Given the description of an element on the screen output the (x, y) to click on. 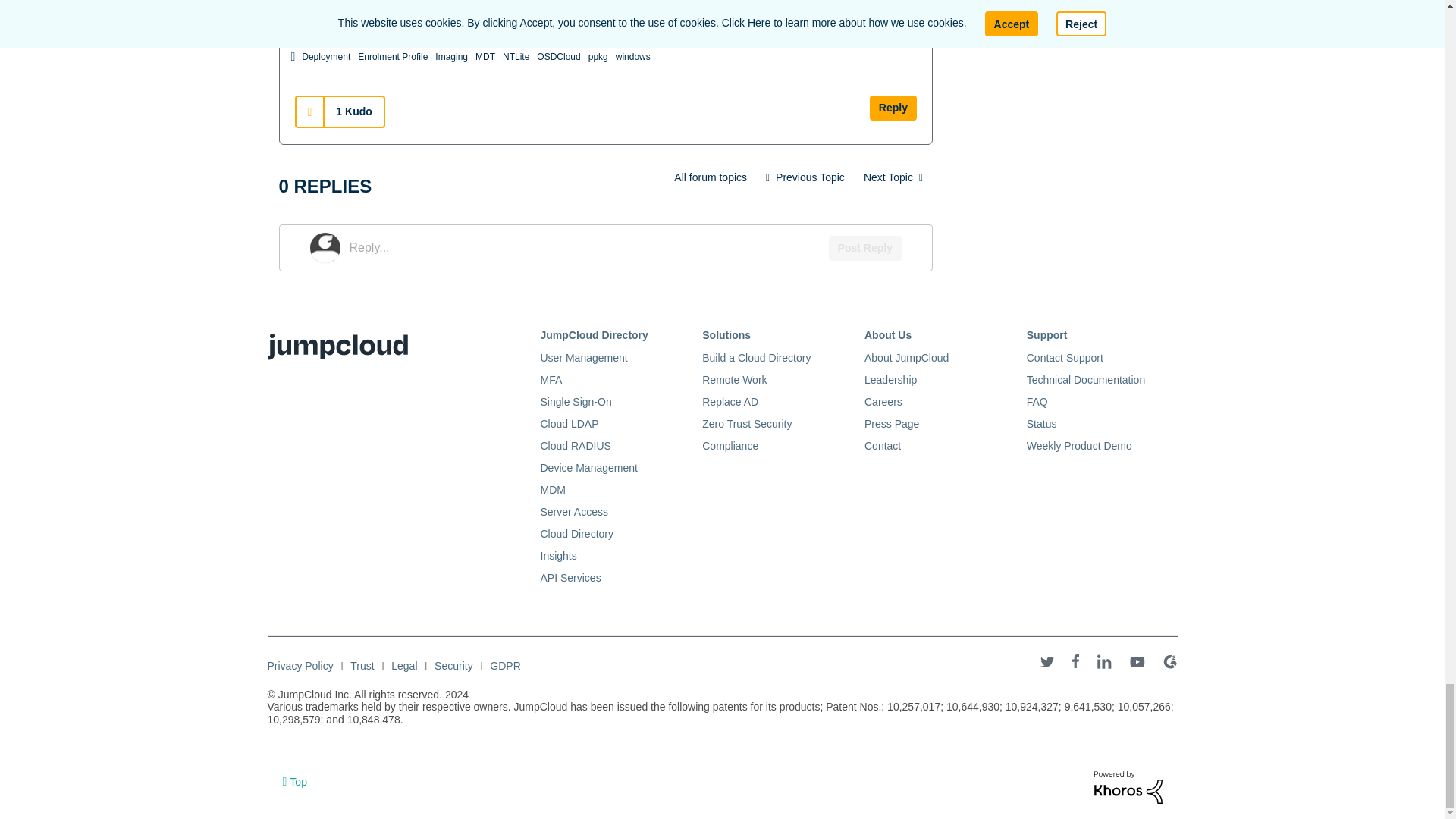
Top (293, 780)
Top (293, 780)
Click here to see who gave kudos to this post. (353, 111)
Click here to give kudos to this post. (309, 111)
